Given the description of an element on the screen output the (x, y) to click on. 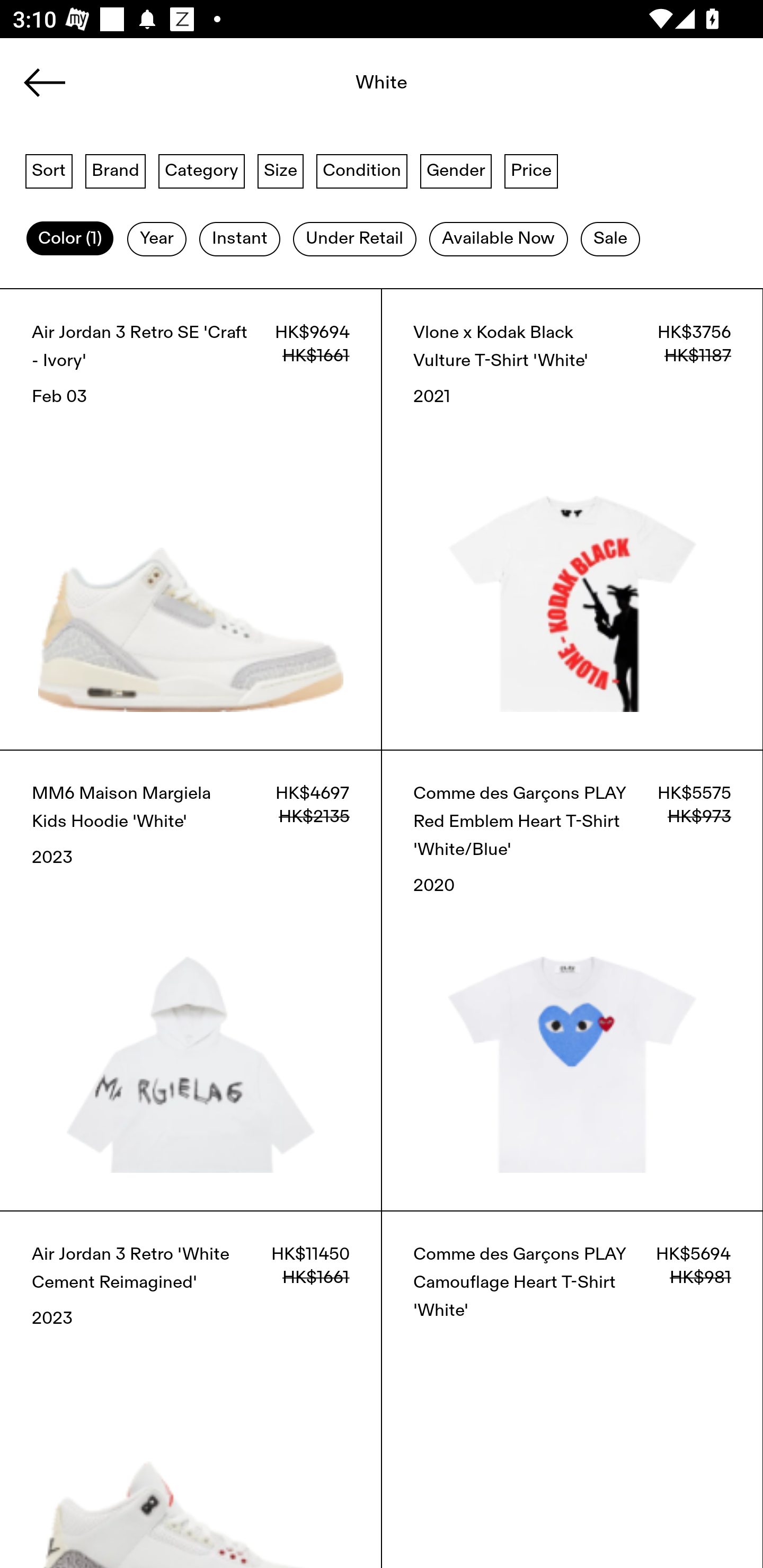
Sort (48, 170)
Brand (115, 170)
Category (201, 170)
Size (280, 170)
Condition (361, 170)
Gender (455, 170)
Price (530, 170)
Color (1) (69, 239)
Year (156, 239)
Instant (239, 239)
Under Retail (354, 239)
Available Now (497, 239)
Sale (610, 239)
